Given the description of an element on the screen output the (x, y) to click on. 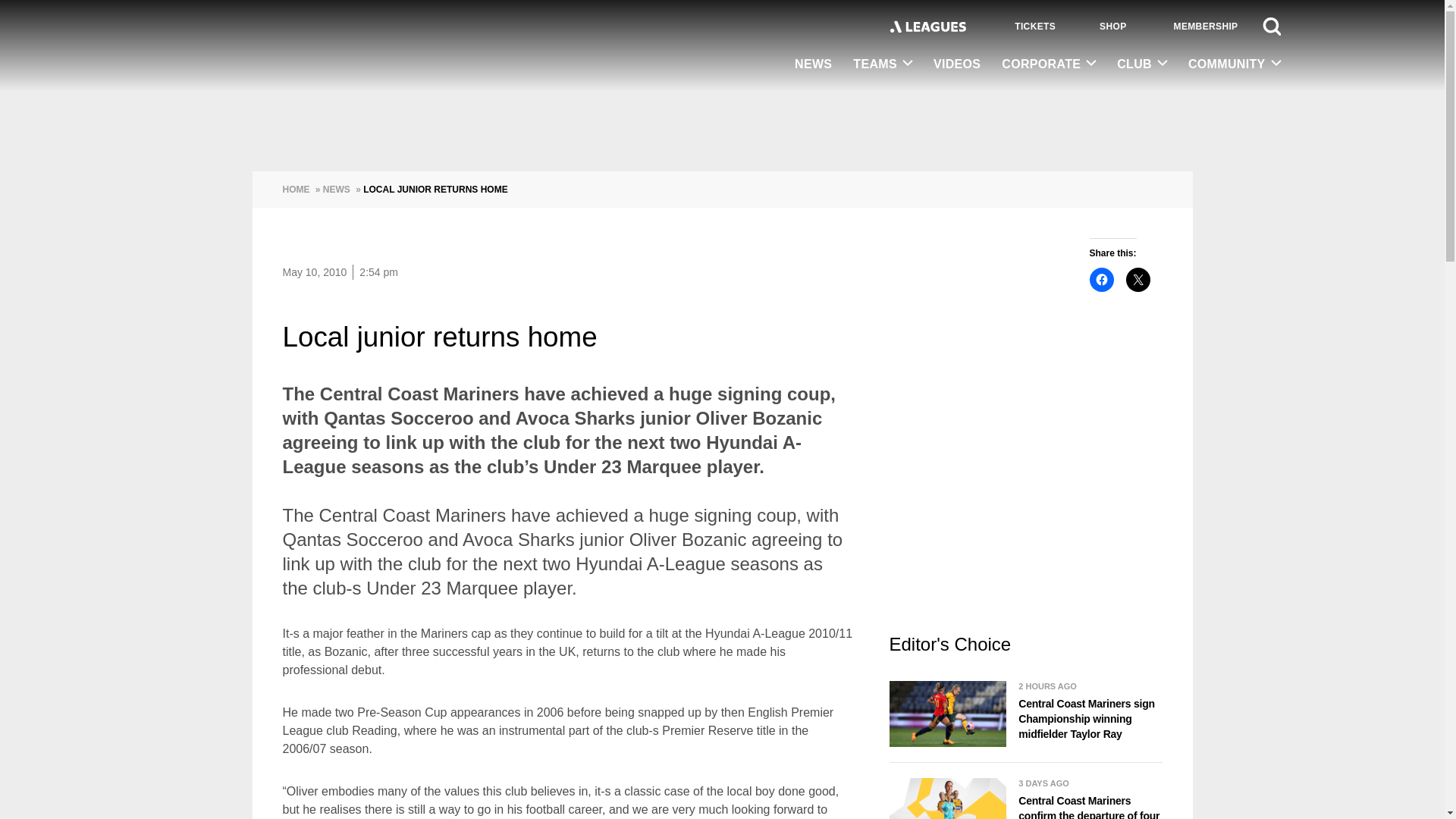
CORPORATE (1048, 64)
CLUB (1141, 64)
VIDEOS (957, 65)
NEWS (813, 65)
TEAMS (883, 64)
